Given the description of an element on the screen output the (x, y) to click on. 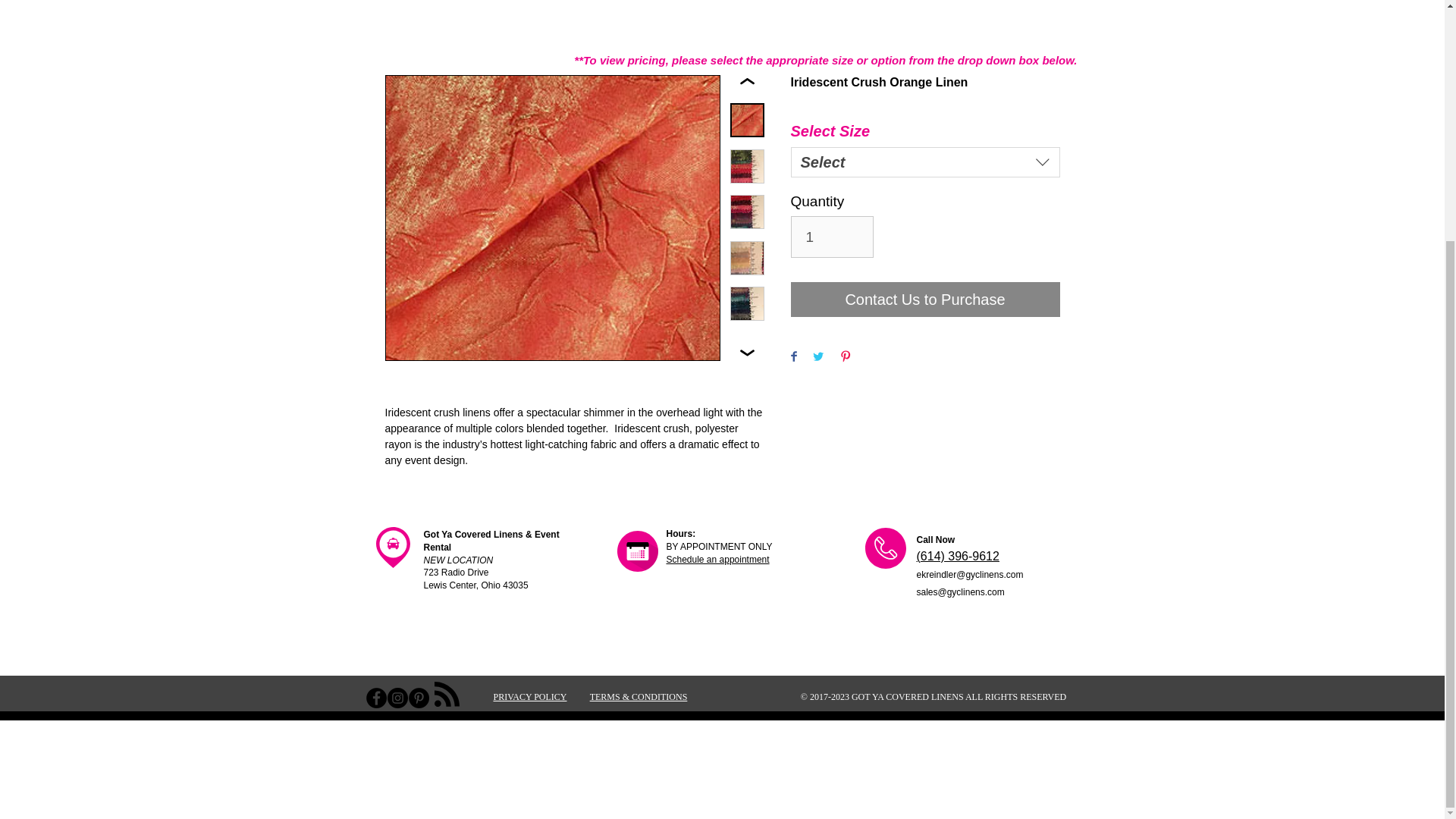
1 (831, 236)
Schedule an appointment (716, 559)
Contact Us to Purchase (924, 298)
Select (924, 162)
